Given the description of an element on the screen output the (x, y) to click on. 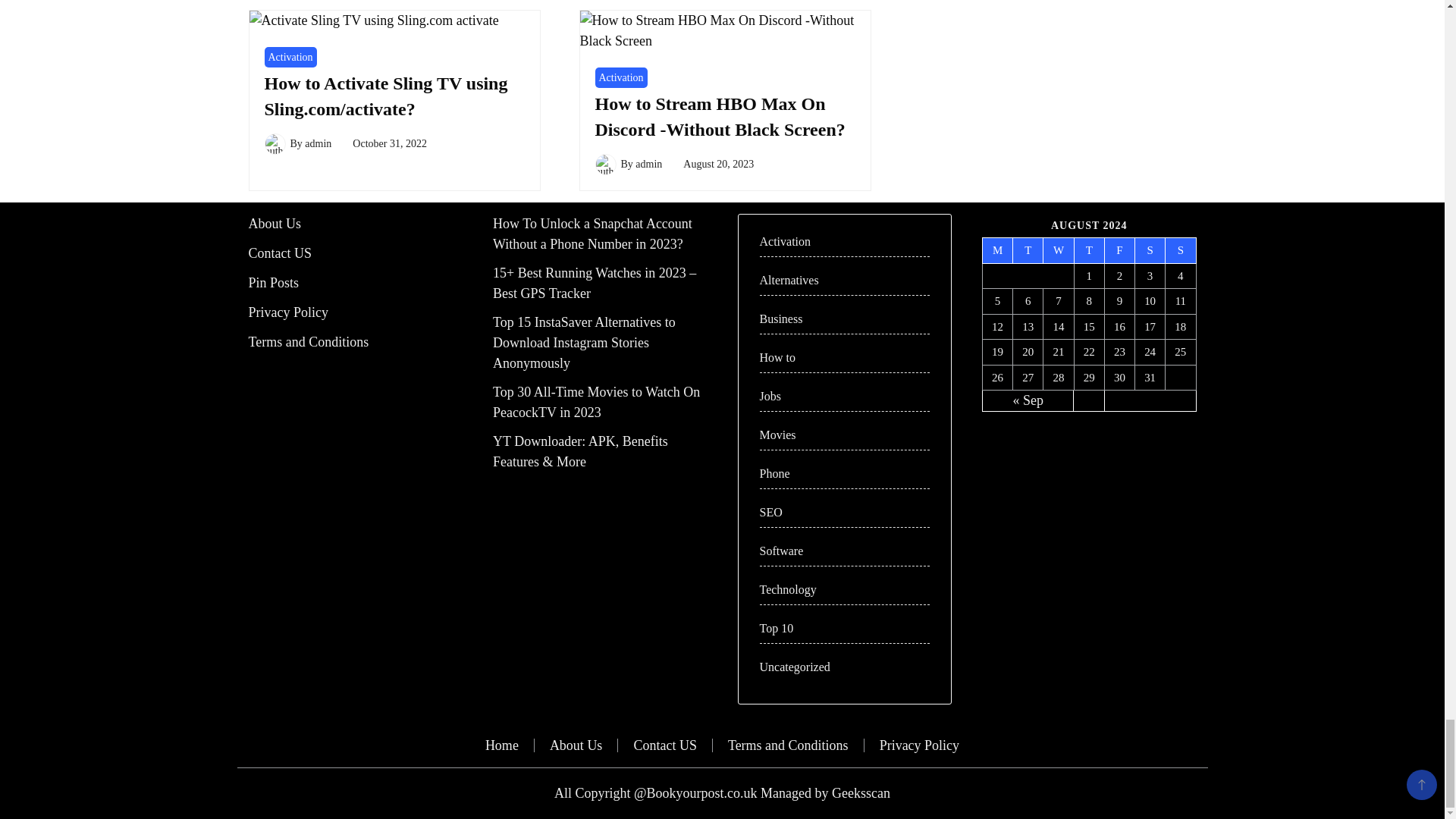
Tuesday (1028, 250)
Monday (997, 250)
Saturday (1150, 250)
Wednesday (1058, 250)
Friday (1118, 250)
Thursday (1088, 250)
Sunday (1180, 250)
